Given the description of an element on the screen output the (x, y) to click on. 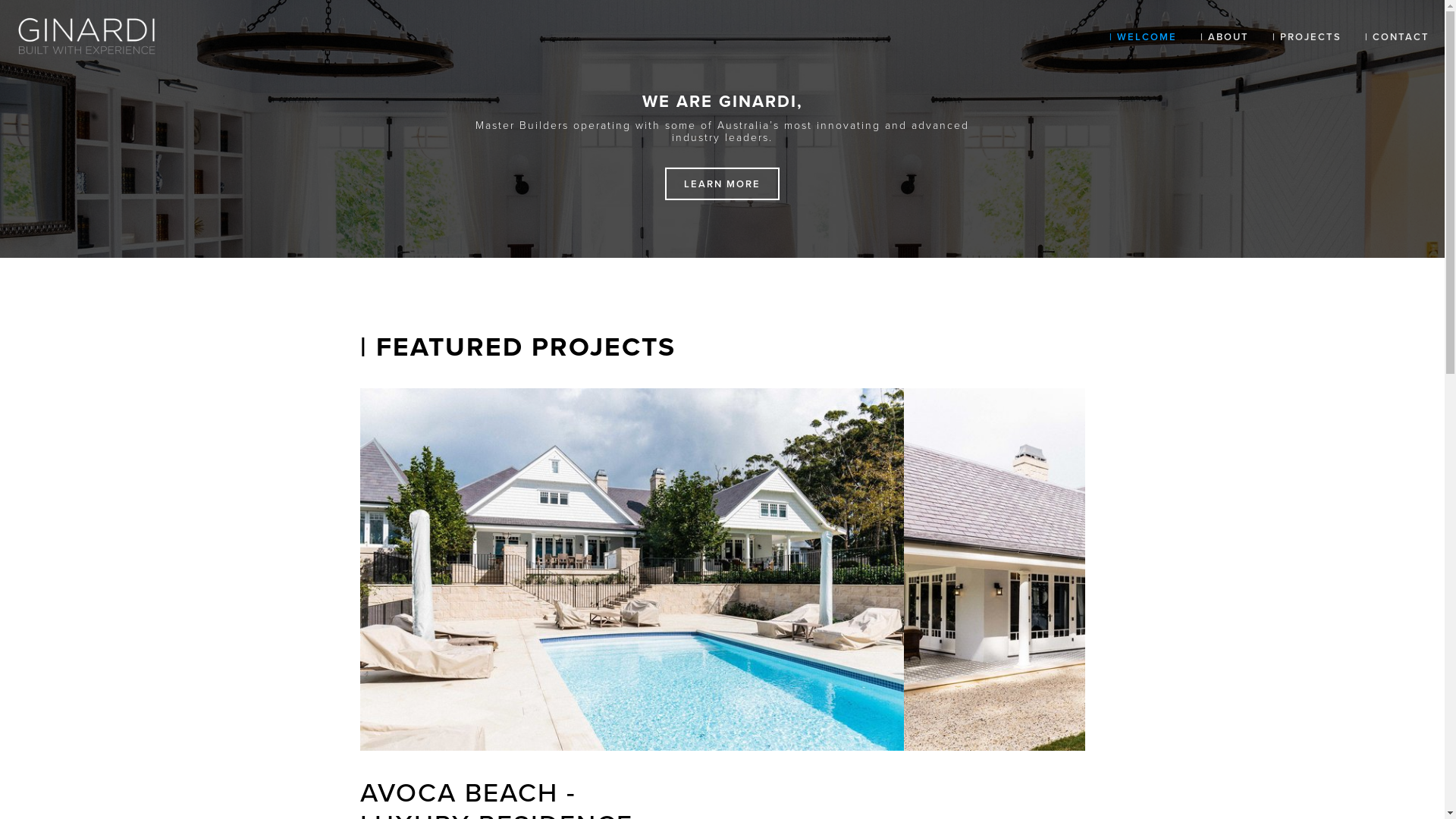
| PROJECTS Element type: text (1306, 36)
LEARN MORE Element type: text (722, 183)
| CONTACT Element type: text (1392, 36)
| WELCOME Element type: text (1142, 36)
